Given the description of an element on the screen output the (x, y) to click on. 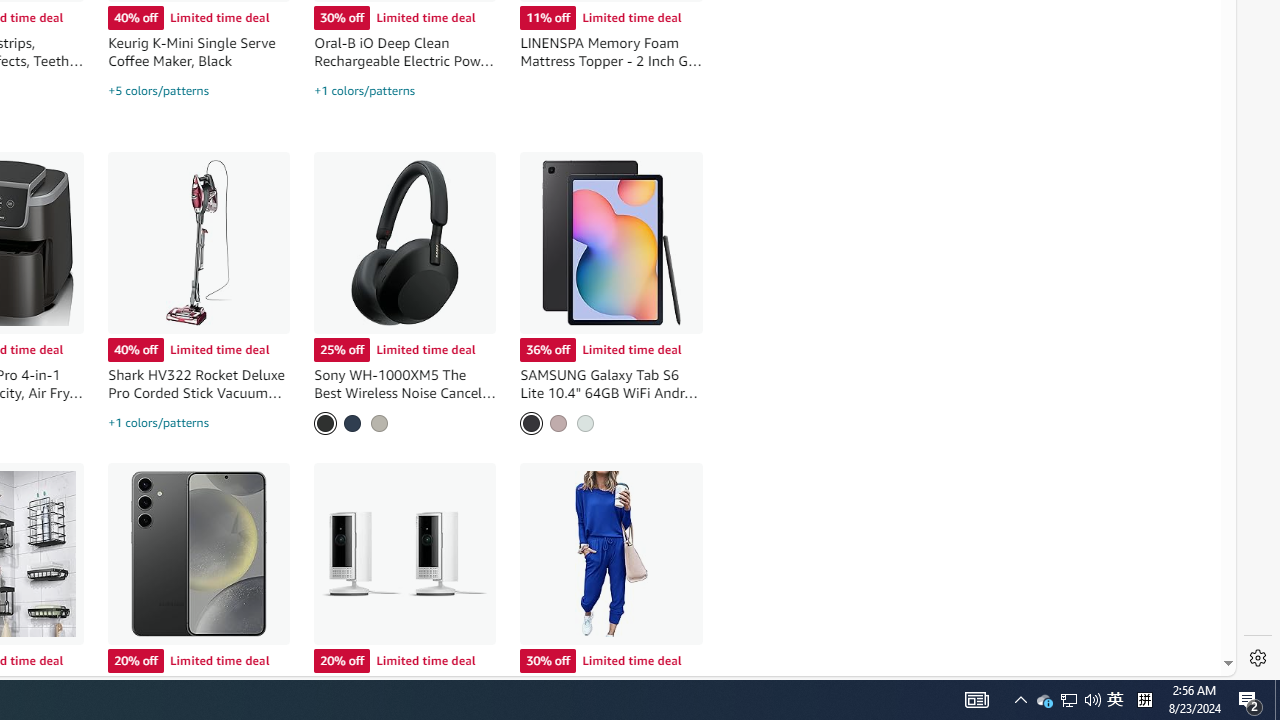
Oxford Gray (531, 422)
+1 colors/patterns (157, 423)
Mint (585, 422)
Chiffon Pink (558, 422)
Midnight Blue (352, 422)
Black (325, 422)
Silver (379, 422)
